Given the description of an element on the screen output the (x, y) to click on. 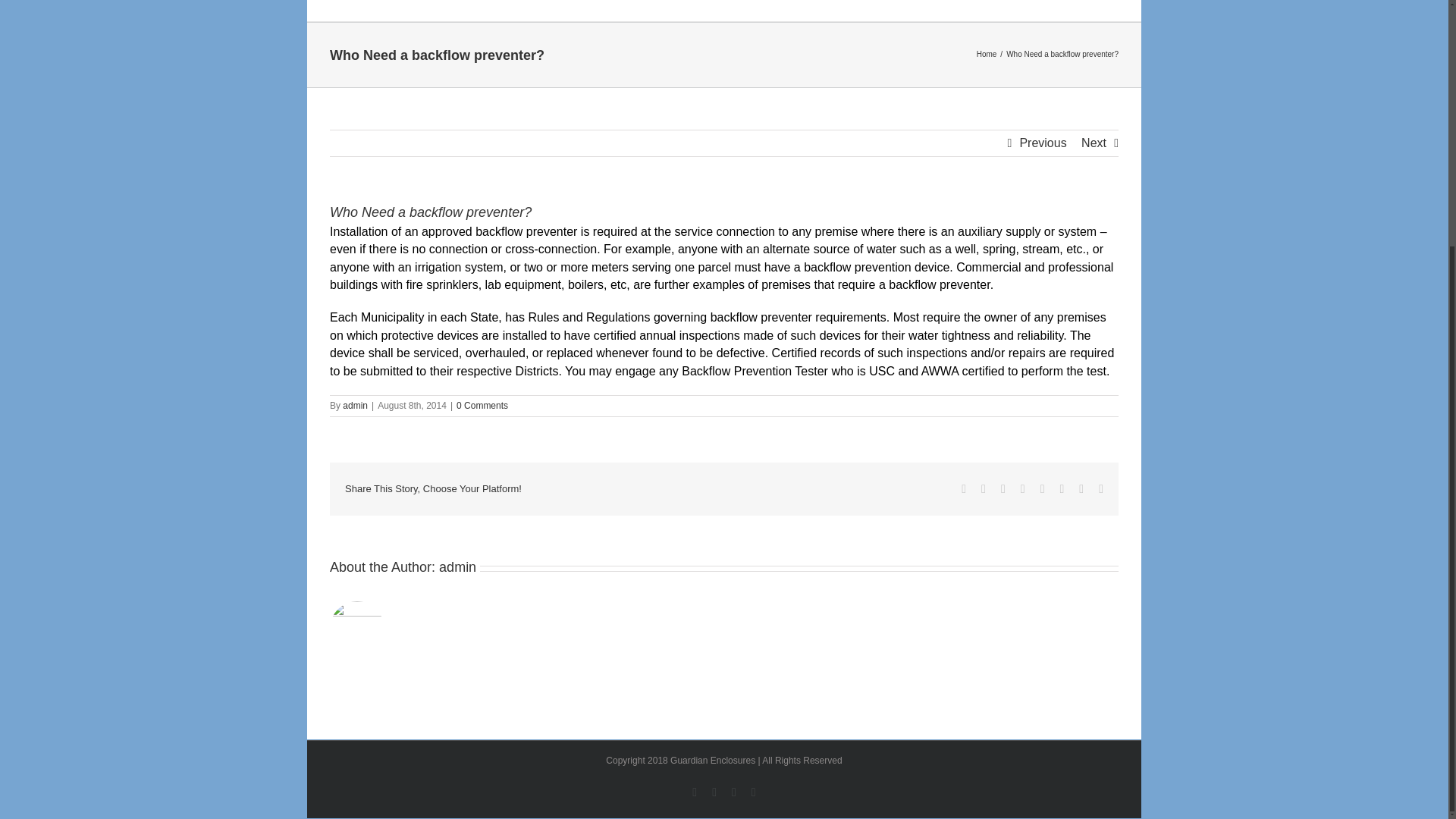
Next (1093, 143)
Posts by admin (457, 566)
Posts by admin (355, 405)
Home (582, 10)
Blog (955, 10)
Previous (1042, 143)
Home (986, 53)
Testimonials (883, 10)
admin (355, 405)
admin (457, 566)
